Given the description of an element on the screen output the (x, y) to click on. 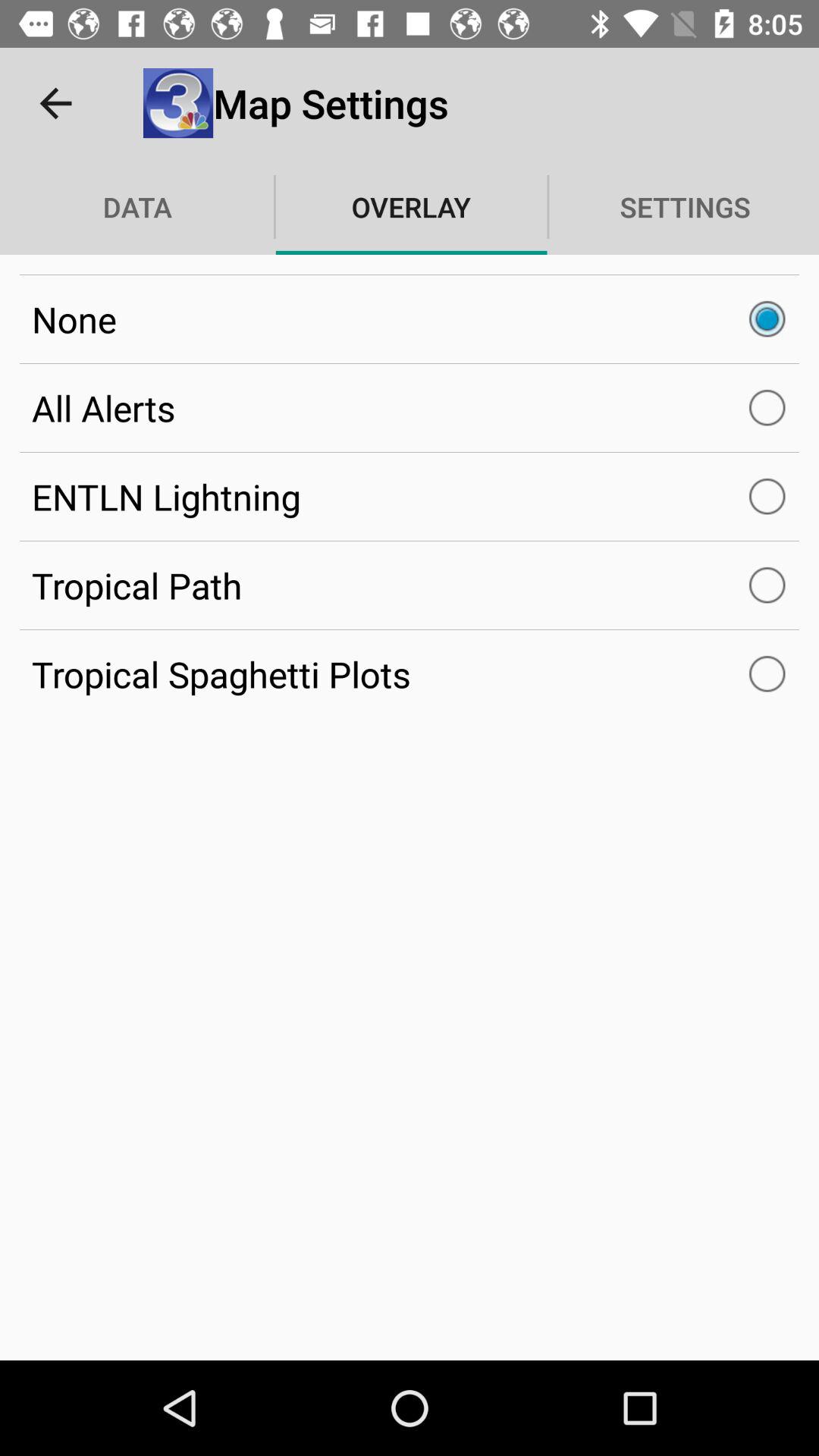
scroll until the entln lightning (409, 496)
